Given the description of an element on the screen output the (x, y) to click on. 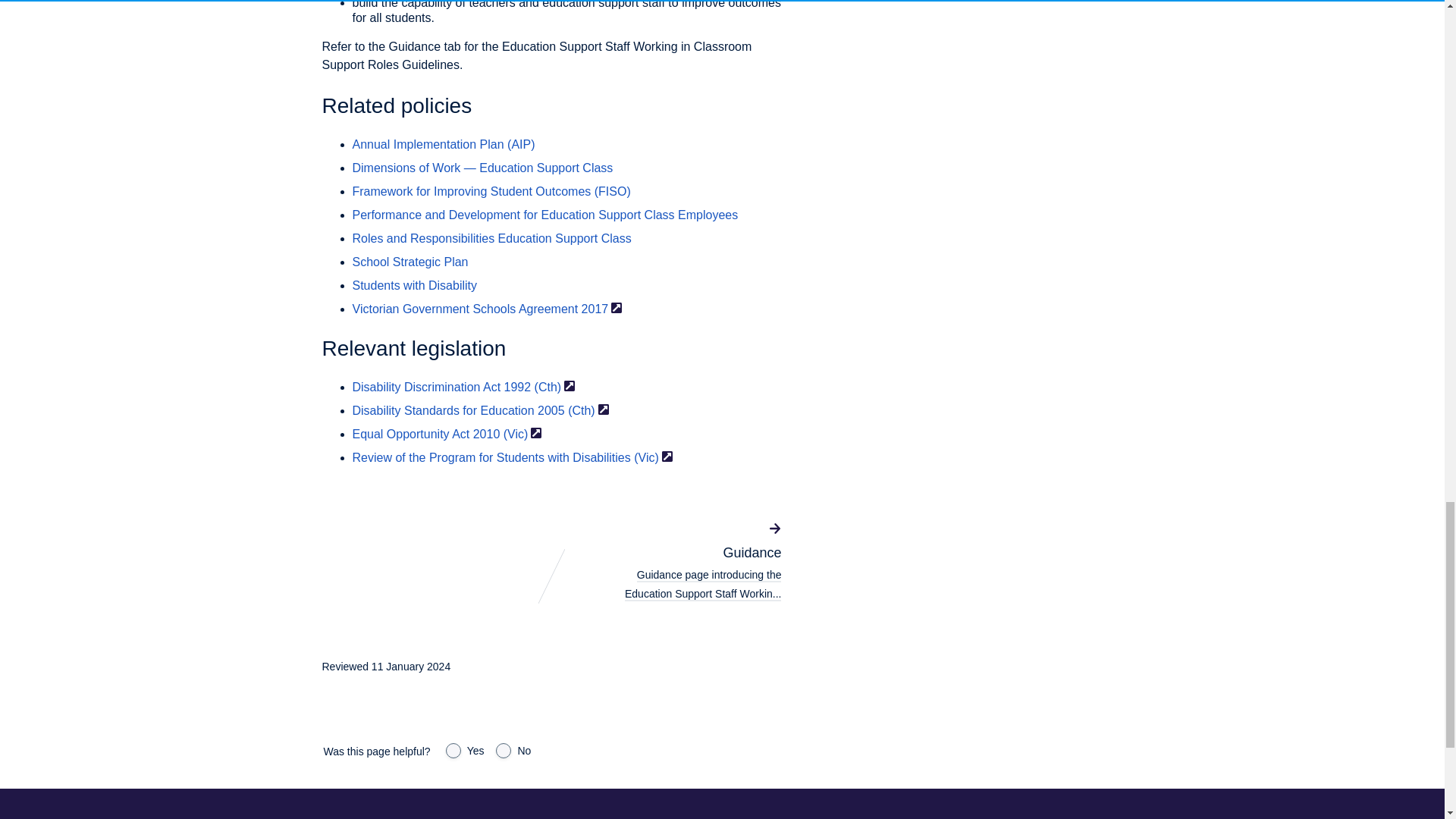
External Link (536, 432)
External Link (603, 409)
Yes (453, 750)
External Link (616, 307)
Victorian Government Schools Agreement 2017External Link (486, 308)
No (503, 750)
Roles and Responsibilities Education Support Class (491, 237)
External Link (569, 385)
